Given the description of an element on the screen output the (x, y) to click on. 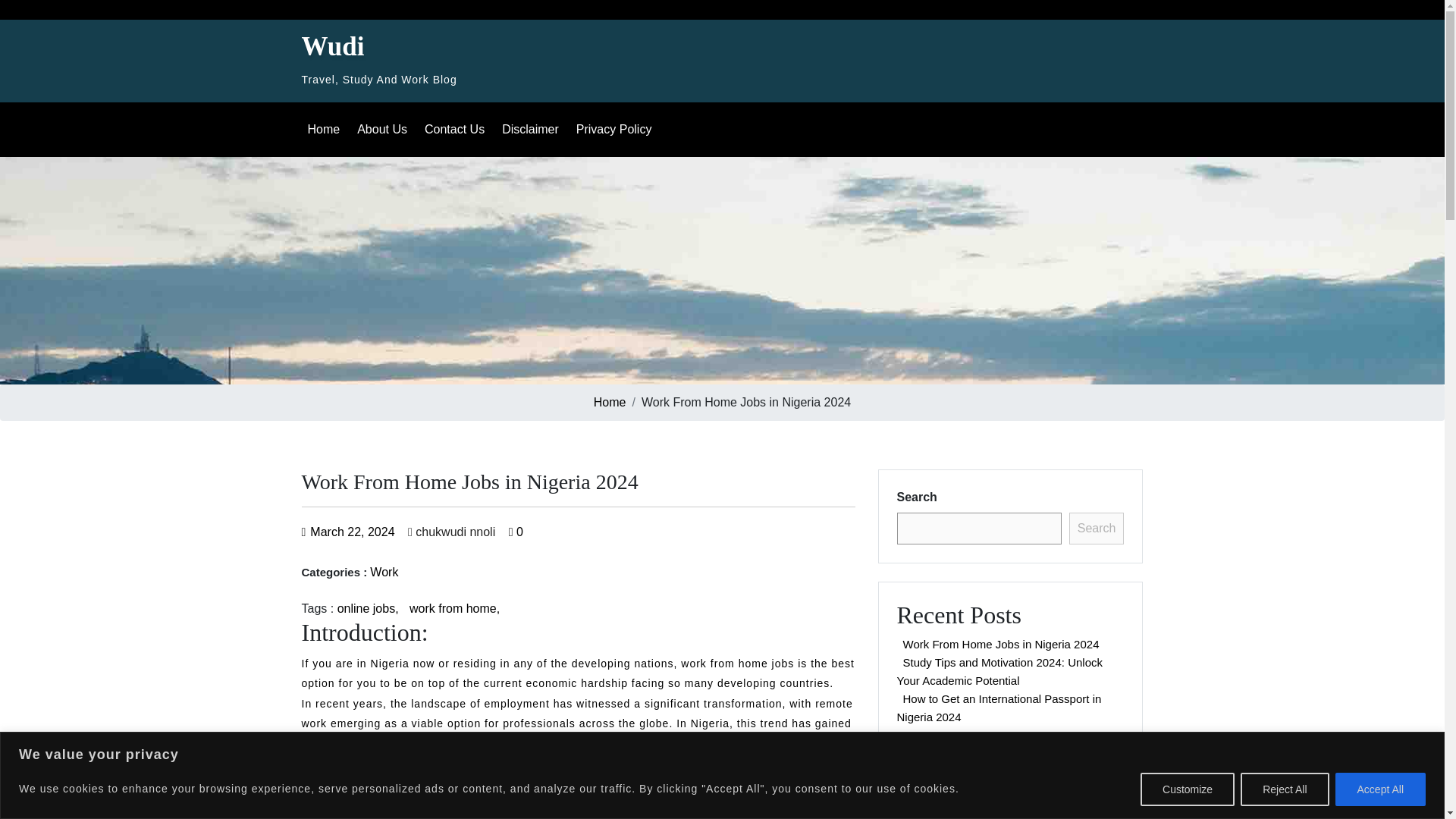
Privacy Policy (616, 129)
Home (610, 401)
Customize (1187, 788)
About Us (384, 129)
Work From Home Jobs in Nigeria 2024 (333, 46)
Accept All (1380, 788)
Disclaimer (533, 129)
Disclaimer (533, 129)
Home (326, 129)
Work (383, 571)
Contact Us (457, 129)
work from home (457, 608)
About Us (384, 129)
Contact Us (457, 129)
online jobs (373, 608)
